Given the description of an element on the screen output the (x, y) to click on. 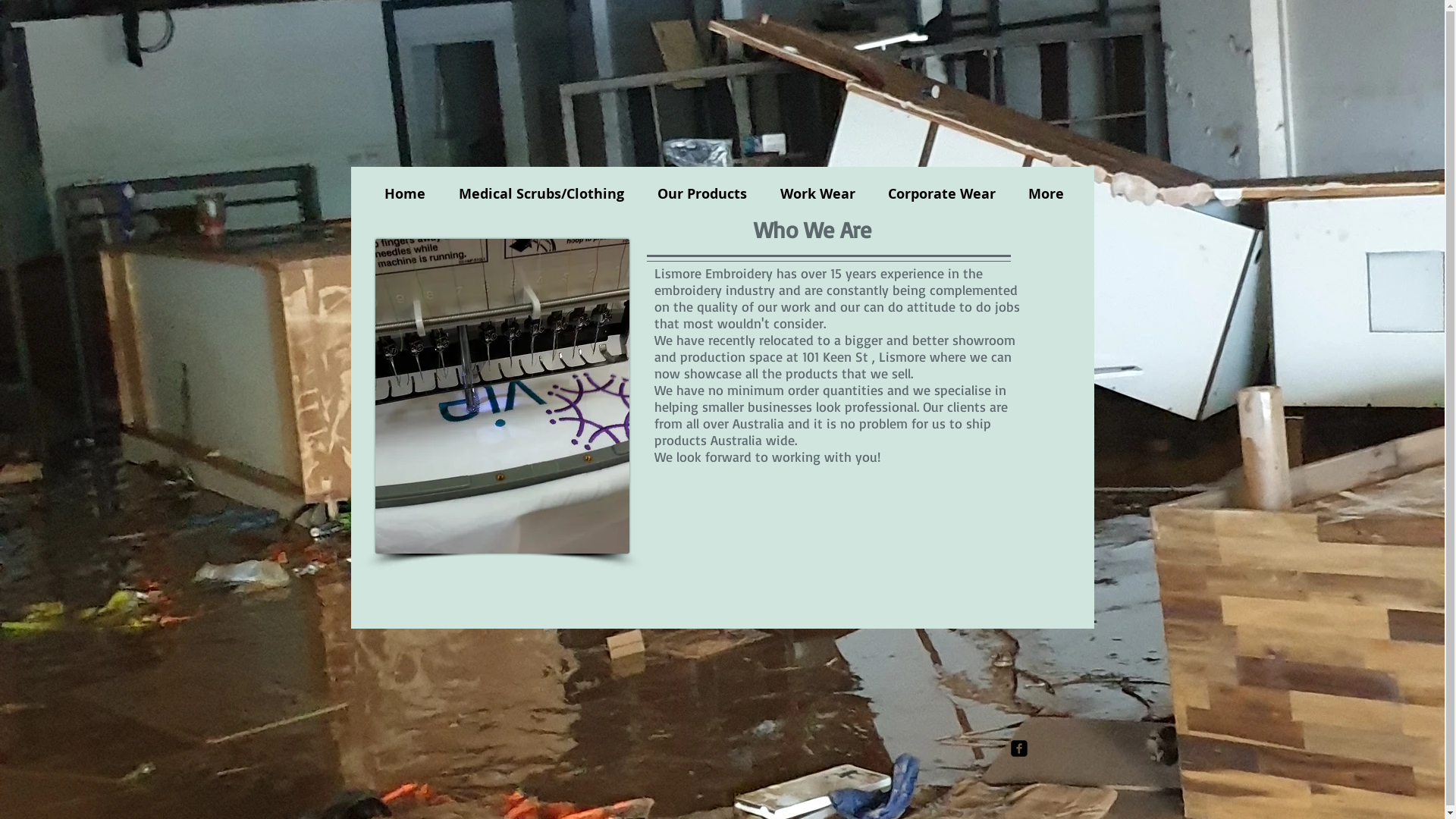
Corporate Wear Element type: text (942, 193)
Our Products Element type: text (701, 193)
Work Wear Element type: text (816, 193)
Home Element type: text (404, 193)
Medical Scrubs/Clothing Element type: text (540, 193)
